Given the description of an element on the screen output the (x, y) to click on. 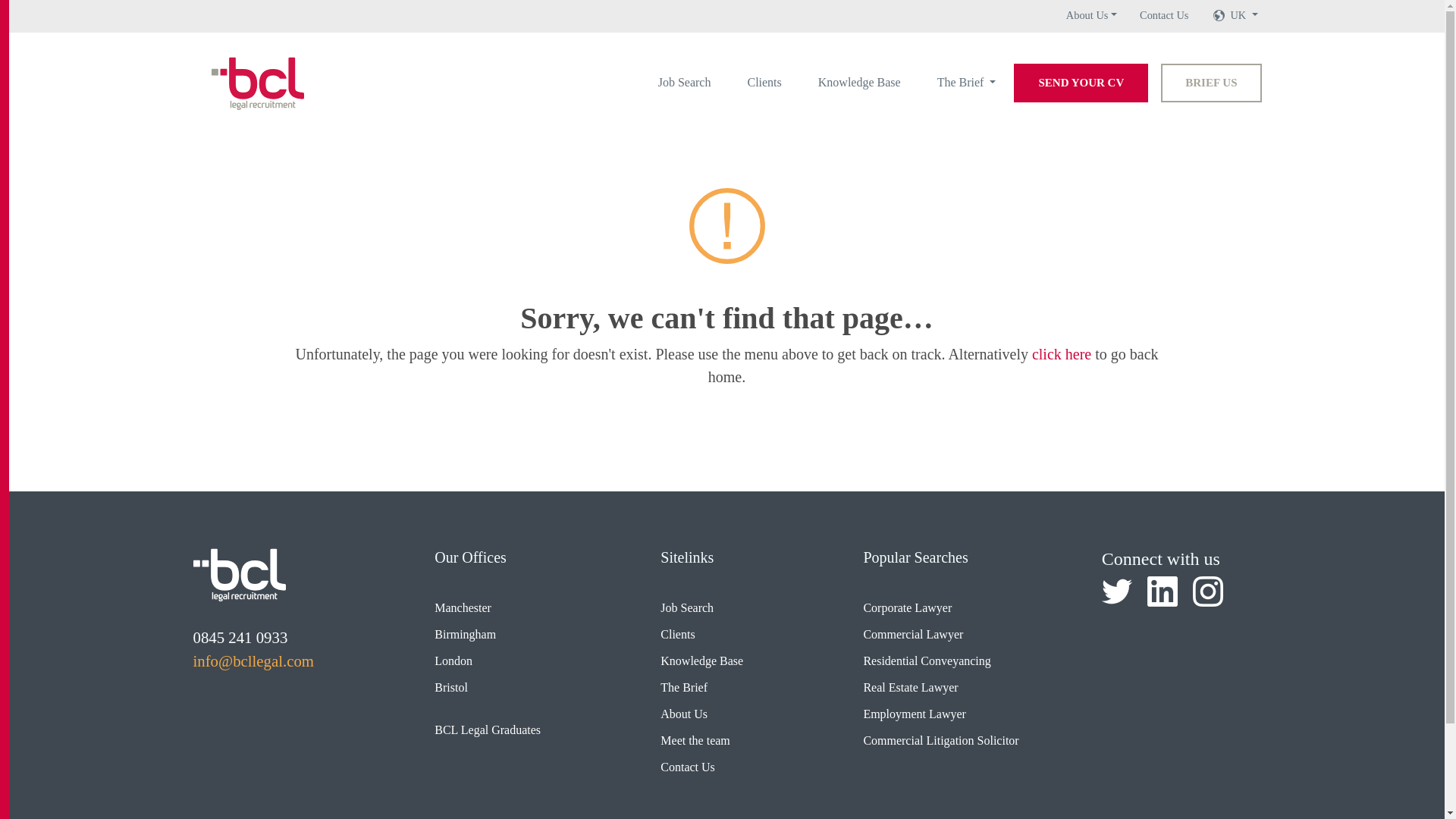
BCL Legal on Instagram (1207, 591)
Clients (764, 82)
BCL Legal on Twitter (1117, 591)
BRIEF US (1210, 82)
Contact Us (1164, 15)
About Us (1090, 15)
Knowledge Base (859, 82)
The Brief (967, 82)
BCL Legal on LinkedIn (1162, 591)
Job Search (684, 82)
BCL Legal Recruitment (238, 574)
SEND YOUR CV (1080, 82)
UK (1243, 15)
